Given the description of an element on the screen output the (x, y) to click on. 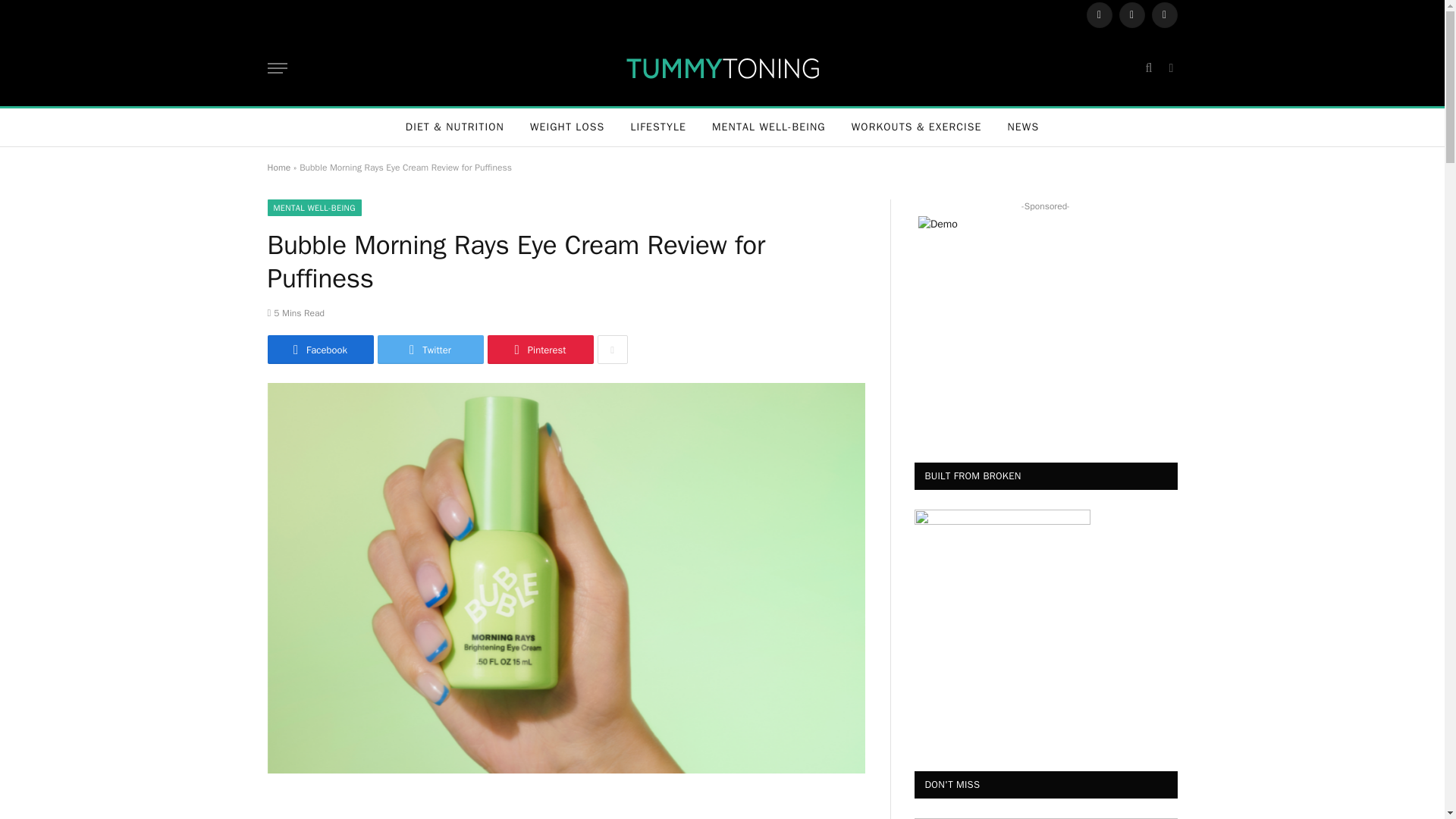
LIFESTYLE (657, 127)
NEWS (1023, 127)
Home (277, 167)
Share on Facebook (319, 348)
Switch to Dark Design - easier on eyes. (1168, 68)
Instagram (1163, 14)
Facebook (319, 348)
Pinterest (539, 348)
Facebook (1099, 14)
TummyToningTips.com (722, 67)
MENTAL WELL-BEING (768, 127)
Twitter (430, 348)
WEIGHT LOSS (566, 127)
MENTAL WELL-BEING (313, 207)
